Given the description of an element on the screen output the (x, y) to click on. 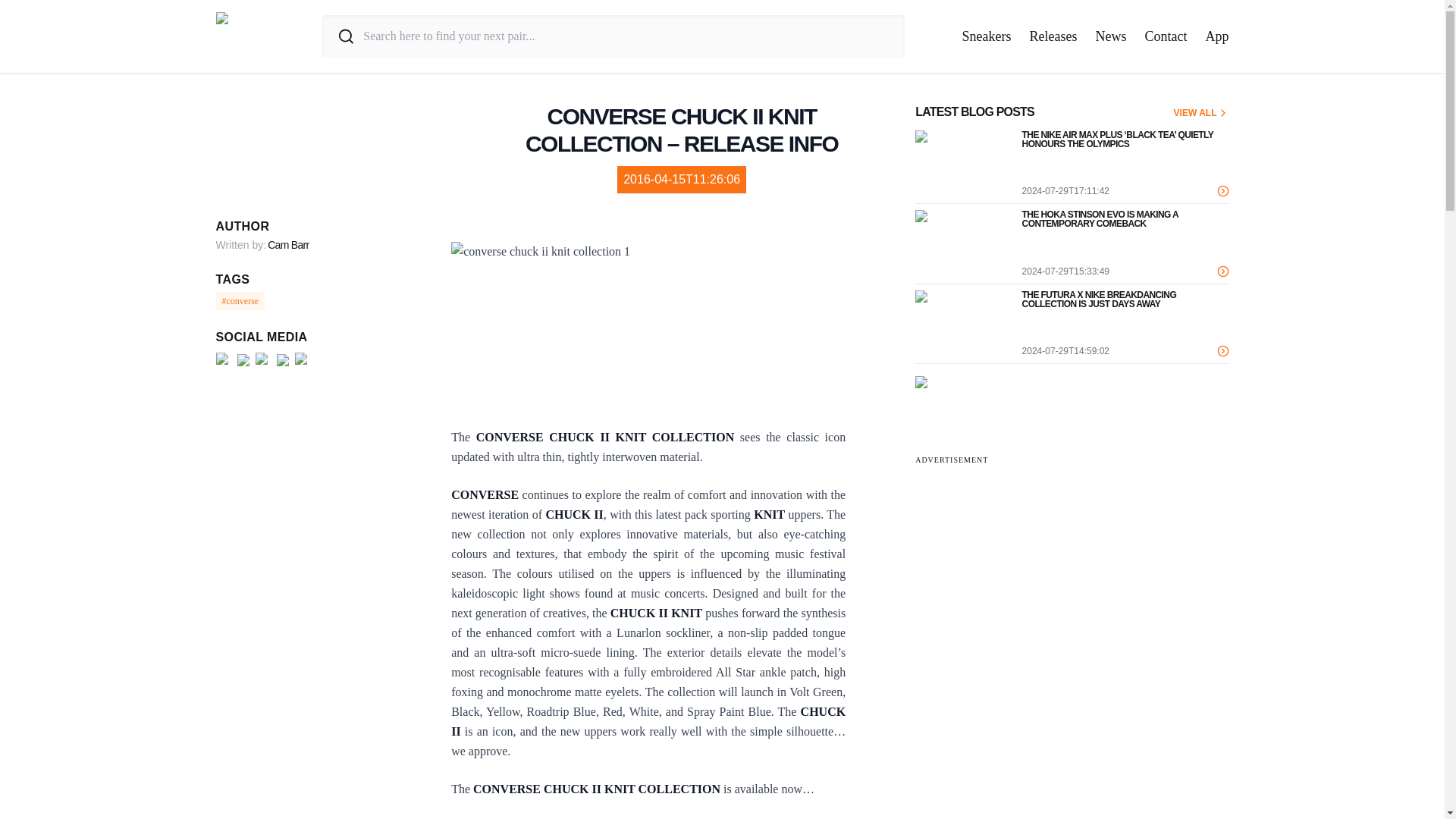
Contact (1166, 36)
News (1109, 36)
Releases (1053, 36)
Sneakers (986, 36)
App (1216, 36)
VIEW ALL (1200, 112)
